Given the description of an element on the screen output the (x, y) to click on. 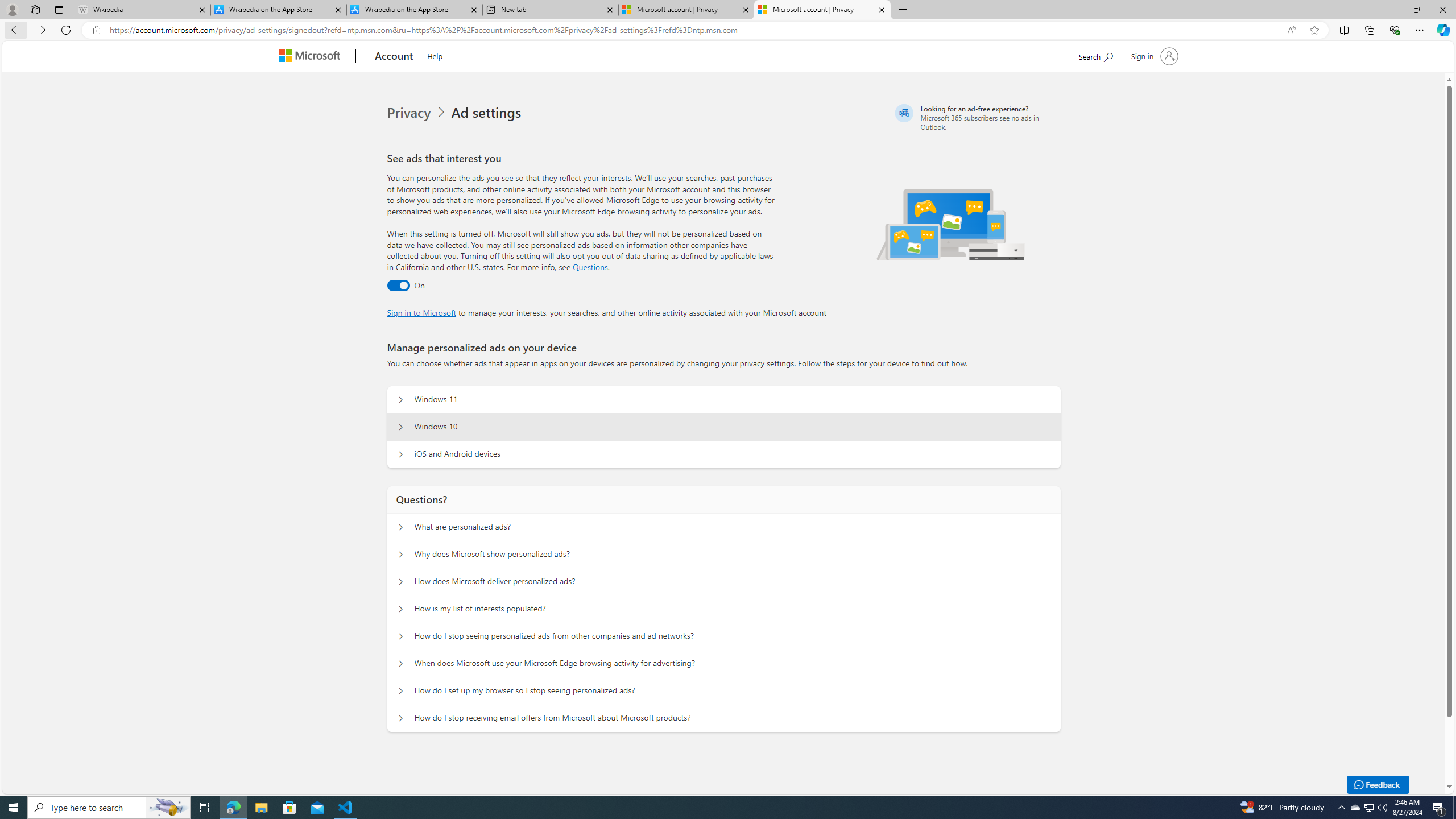
Questions? Why does Microsoft show personalized ads? (401, 554)
Sign in to Microsoft (422, 311)
Ad settings (488, 112)
